Given the description of an element on the screen output the (x, y) to click on. 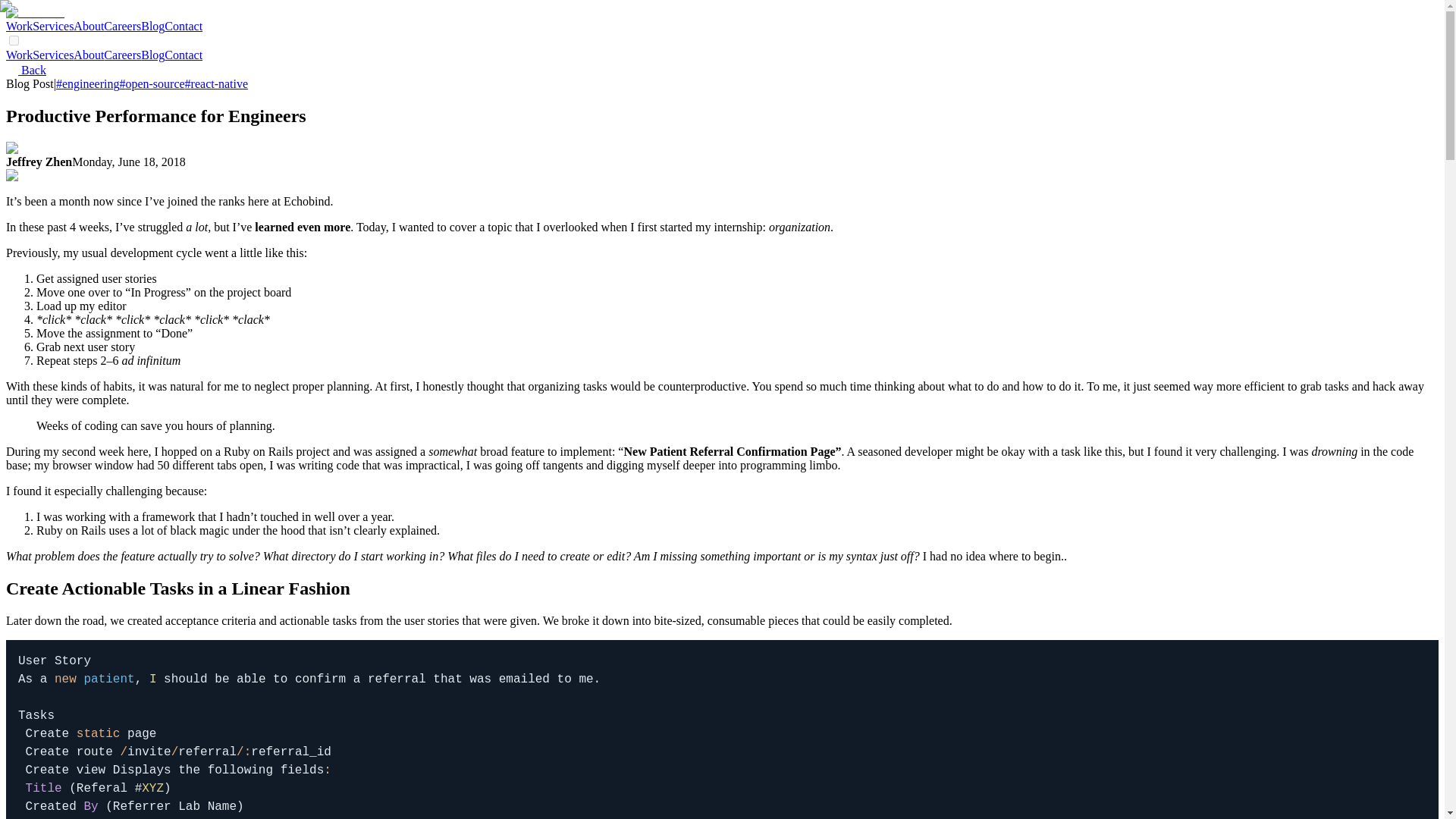
About (88, 25)
Services (53, 54)
on (13, 40)
Careers (122, 54)
Blog (152, 54)
About (88, 54)
Contact (183, 54)
Work (18, 25)
Work (18, 54)
Careers (122, 25)
Back (25, 69)
Contact (183, 25)
Services (53, 25)
Blog (152, 25)
